Given the description of an element on the screen output the (x, y) to click on. 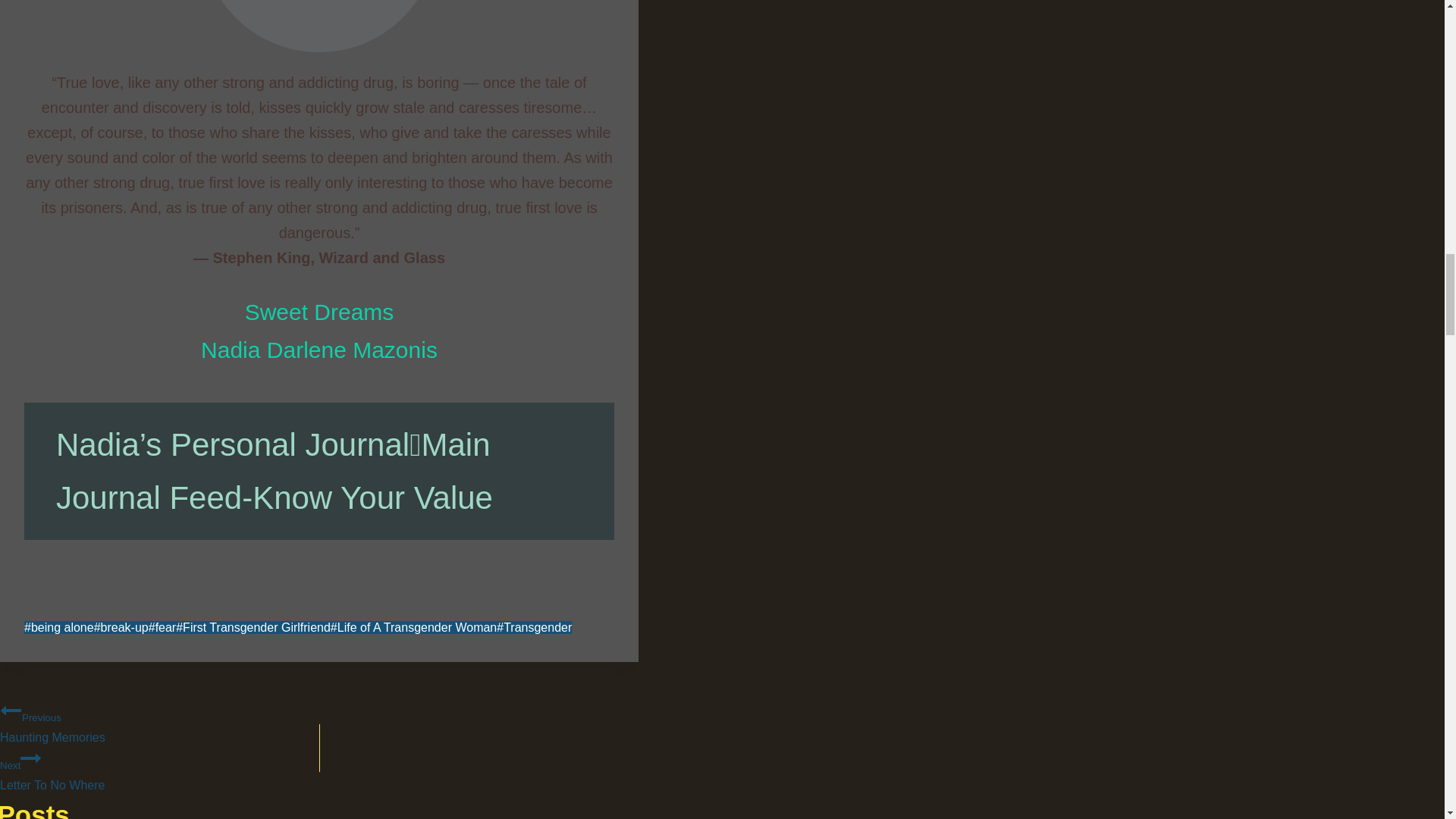
being alone (59, 626)
First Transgender Girlfriend (253, 626)
Transgender (534, 626)
Previous (147, 769)
break-up (147, 721)
Life of A Transgender Woman (10, 710)
fear (121, 626)
